Given the description of an element on the screen output the (x, y) to click on. 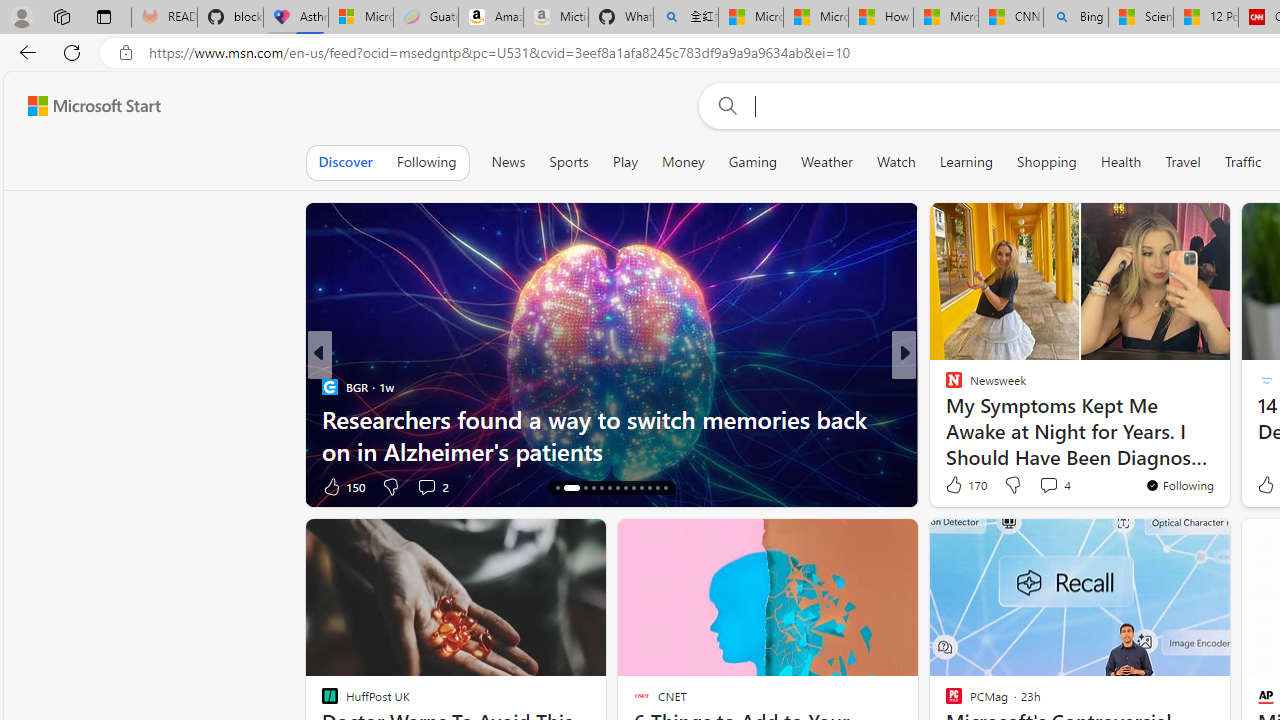
3k Like (955, 486)
76 Like (956, 486)
636 Like (959, 486)
View comments 231 Comment (1035, 485)
View comments 73 Comment (1051, 486)
28 Like (956, 486)
View comments 4 Comment (1048, 485)
